Given the description of an element on the screen output the (x, y) to click on. 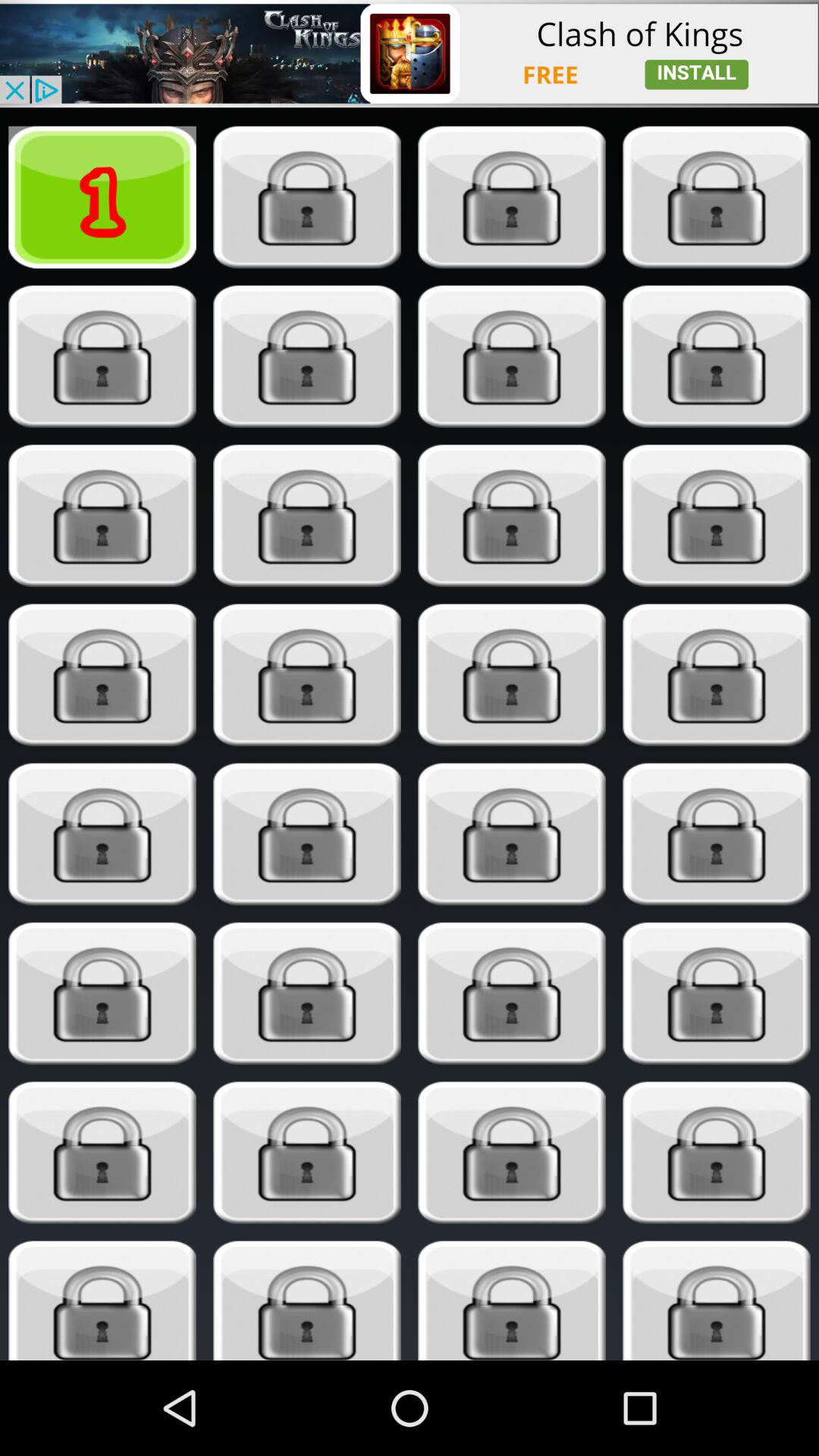
unlock (511, 197)
